Given the description of an element on the screen output the (x, y) to click on. 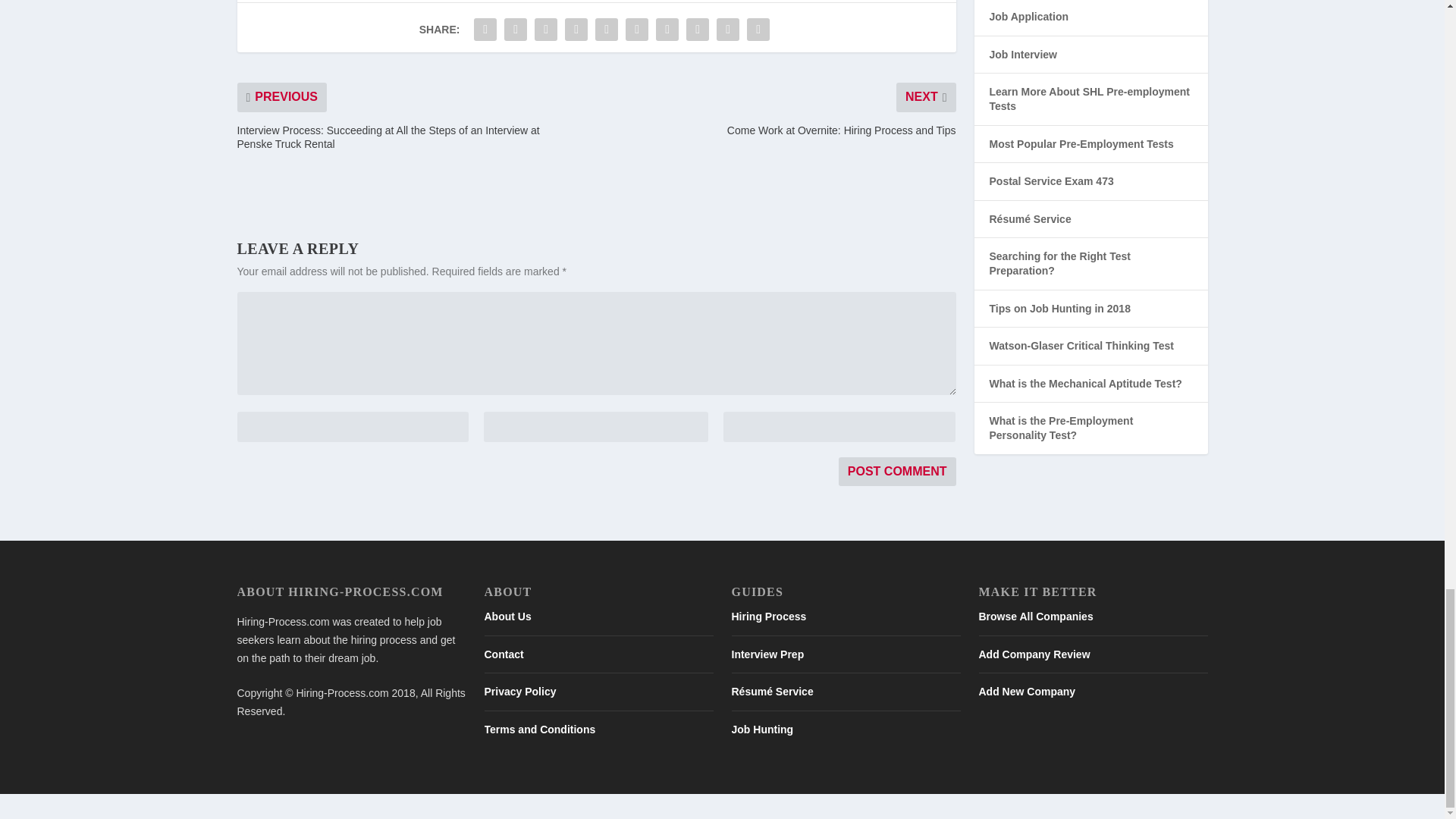
Share "How Do I Get a Position at BOK Financial?" via Buffer (667, 29)
Share "How Do I Get a Position at BOK Financial?" via Tumblr (575, 29)
Post Comment (897, 471)
Share "How Do I Get a Position at BOK Financial?" via Print (757, 29)
Share "How Do I Get a Position at BOK Financial?" via Email (727, 29)
